Given the description of an element on the screen output the (x, y) to click on. 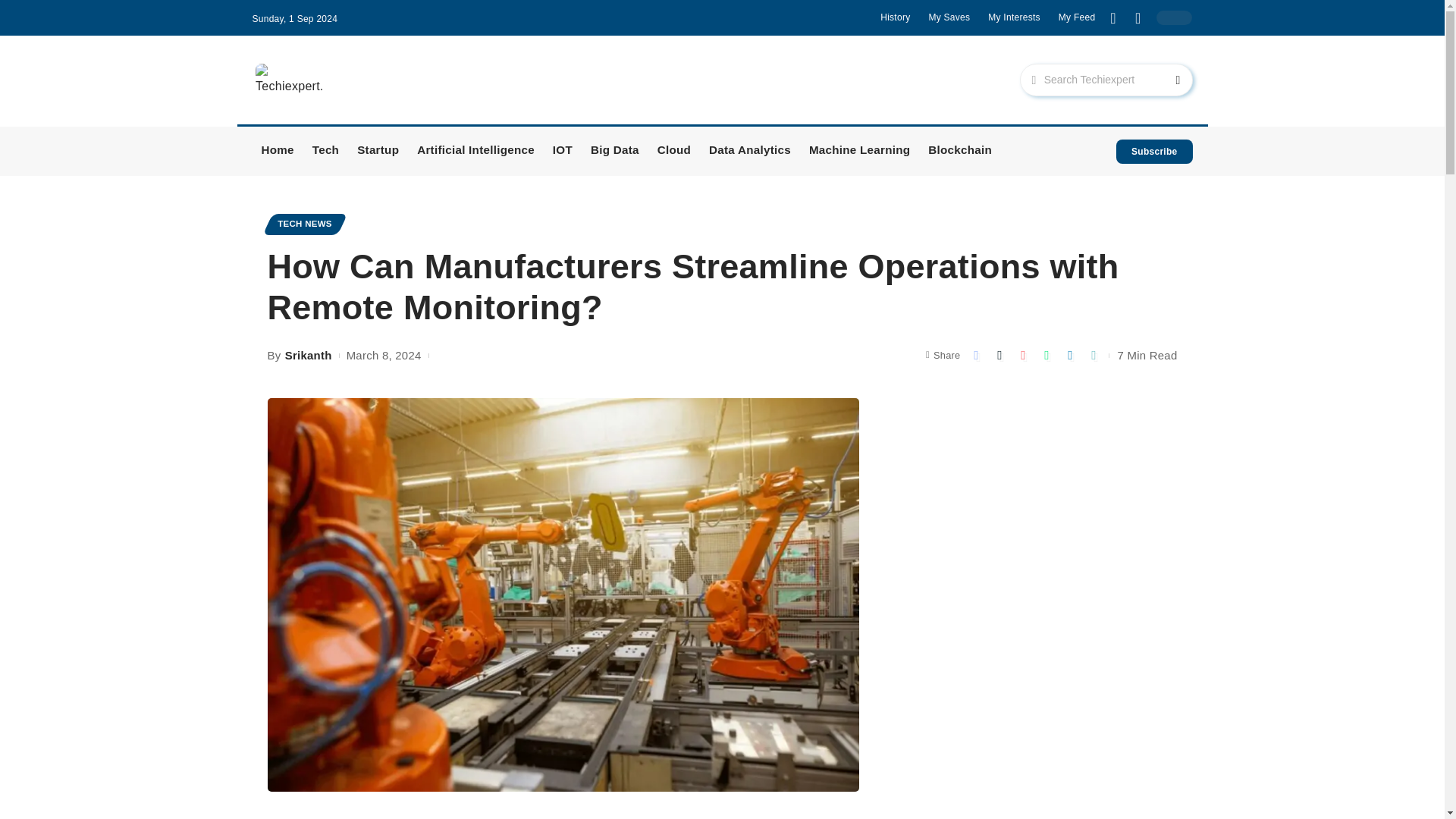
Machine Learning (858, 151)
Data Analytics (749, 151)
Search (1164, 80)
Subscribe (1154, 151)
Artificial Intelligence (475, 151)
My Feed (1077, 17)
Home (276, 151)
Startup (377, 151)
Cloud (673, 151)
My Saves (948, 17)
